Given the description of an element on the screen output the (x, y) to click on. 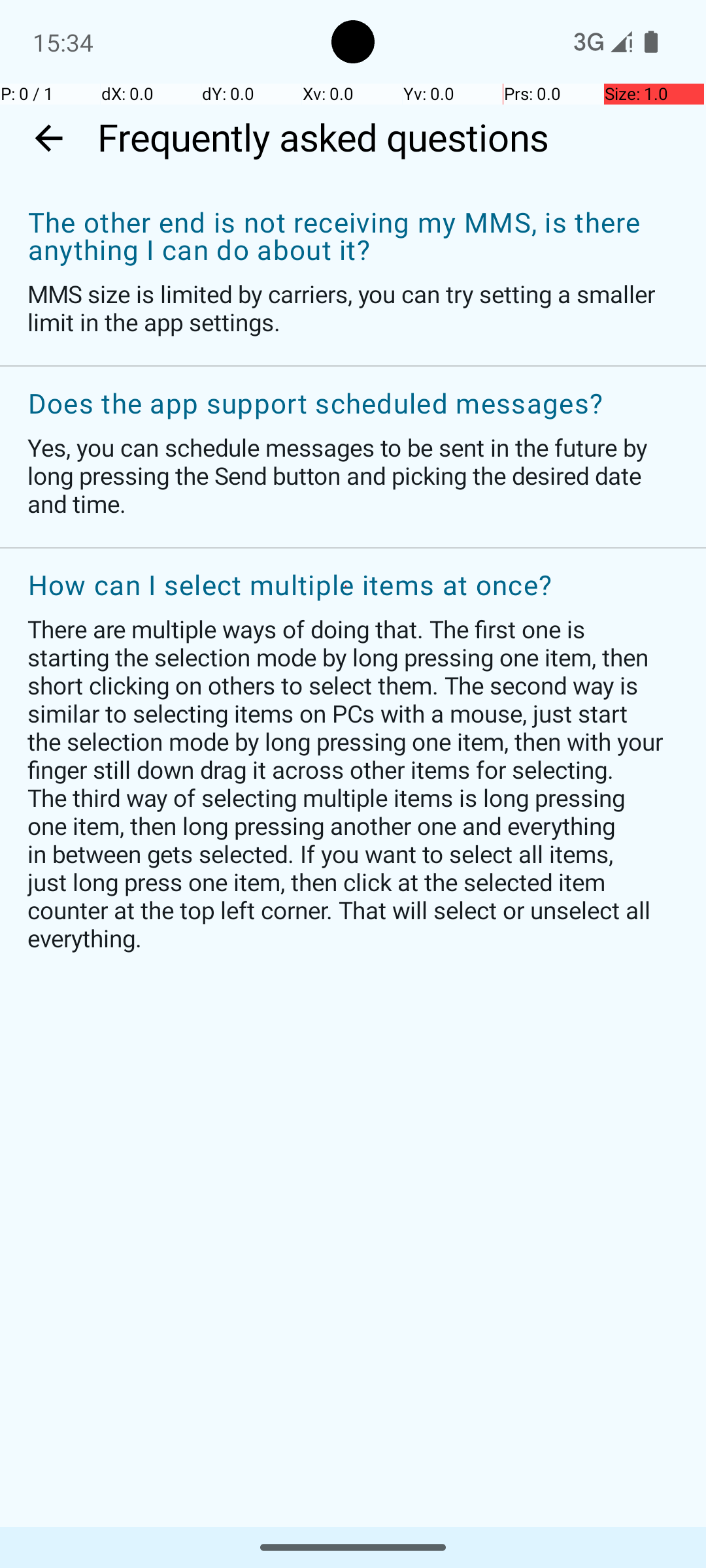
The other end is not receiving my MMS, is there anything I can do about it? Element type: android.widget.TextView (345, 237)
Does the app support scheduled messages? Element type: android.widget.TextView (345, 404)
How can I select multiple items at once? Element type: android.widget.TextView (345, 585)
MMS size is limited by carriers, you can try setting a smaller limit in the app settings. Element type: android.widget.TextView (345, 307)
Yes, you can schedule messages to be sent in the future by long pressing the Send button and picking the desired date and time. Element type: android.widget.TextView (345, 475)
There are multiple ways of doing that. The first one is starting the selection mode by long pressing one item, then short clicking on others to select them. The second way is similar to selecting items on PCs with a mouse, just start the selection mode by long pressing one item, then with your finger still down drag it across other items for selecting. The third way of selecting multiple items is long pressing one item, then long pressing another one and everything in between gets selected. If you want to select all items, just long press one item, then click at the selected item counter at the top left corner. That will select or unselect all everything. Element type: android.widget.TextView (345, 782)
